Given the description of an element on the screen output the (x, y) to click on. 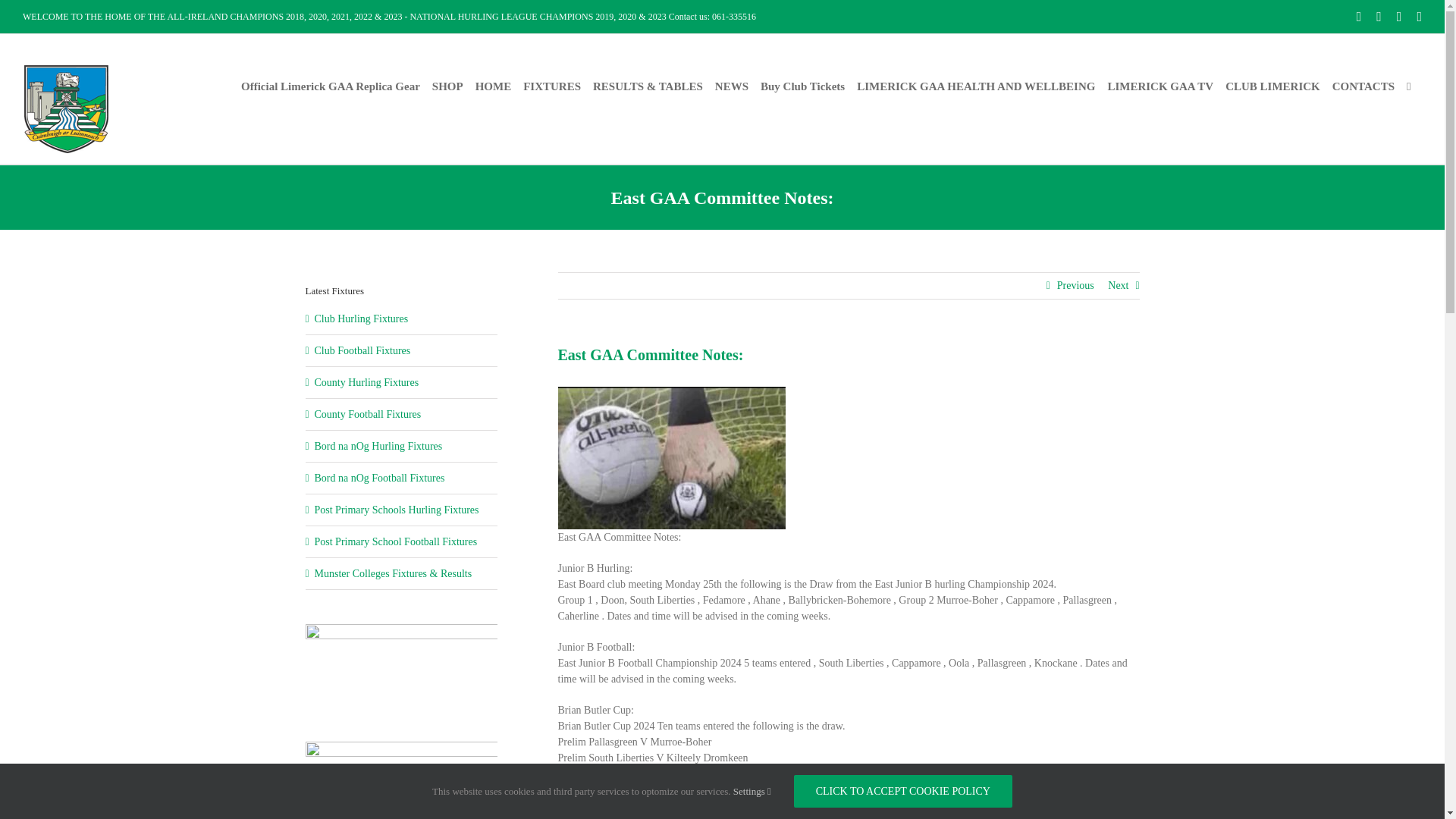
Official Limerick GAA Replica Gear (330, 85)
LIMERICK GAA HEALTH AND WELLBEING (975, 85)
Buy Club Tickets (802, 85)
FIXTURES (551, 85)
